Given the description of an element on the screen output the (x, y) to click on. 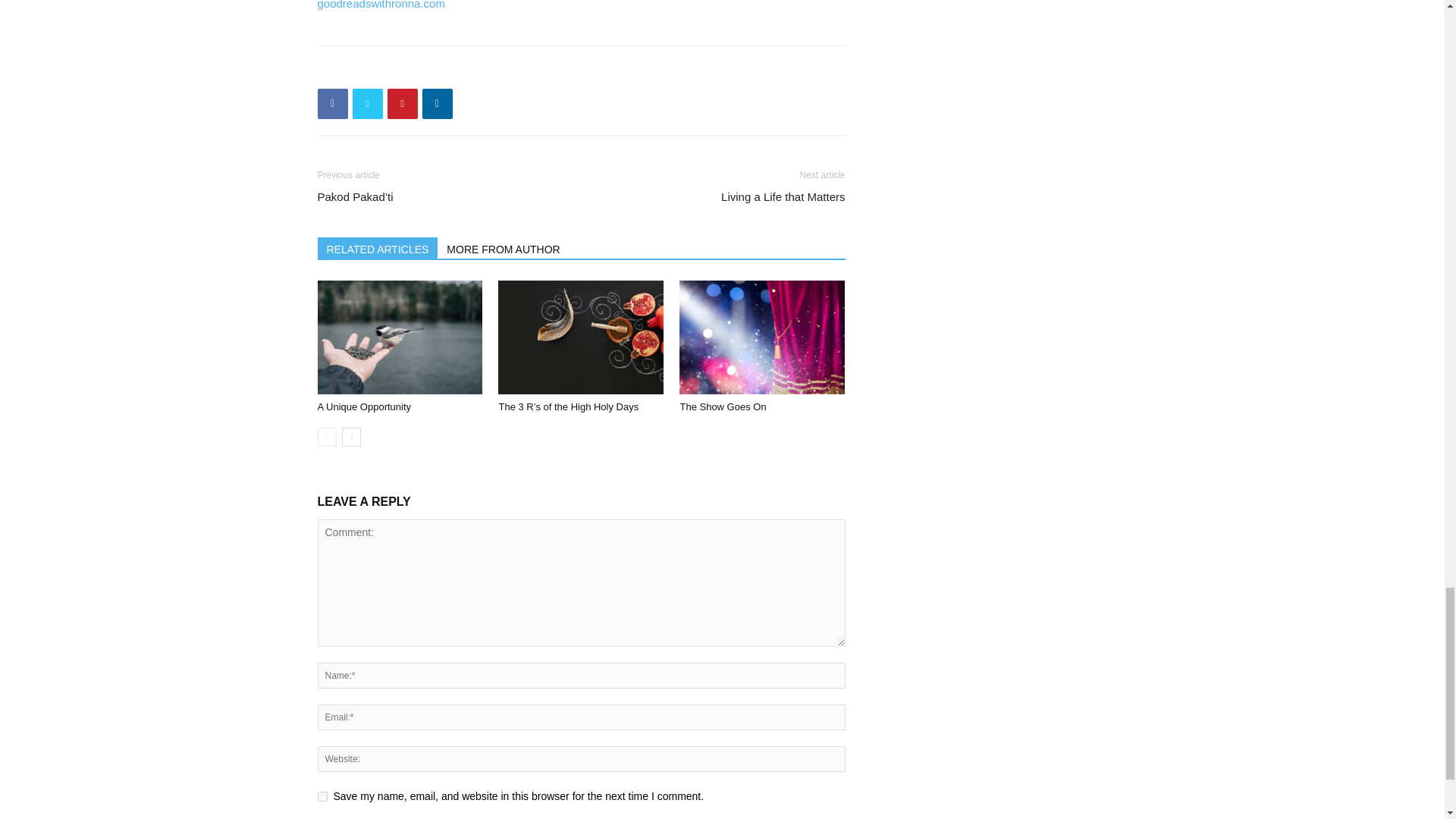
The Show Goes On (722, 406)
goodreadswithronna.com (380, 4)
A Unique Opportunity (363, 406)
A Unique Opportunity (399, 336)
The Show Goes On (761, 336)
yes (321, 796)
